Given the description of an element on the screen output the (x, y) to click on. 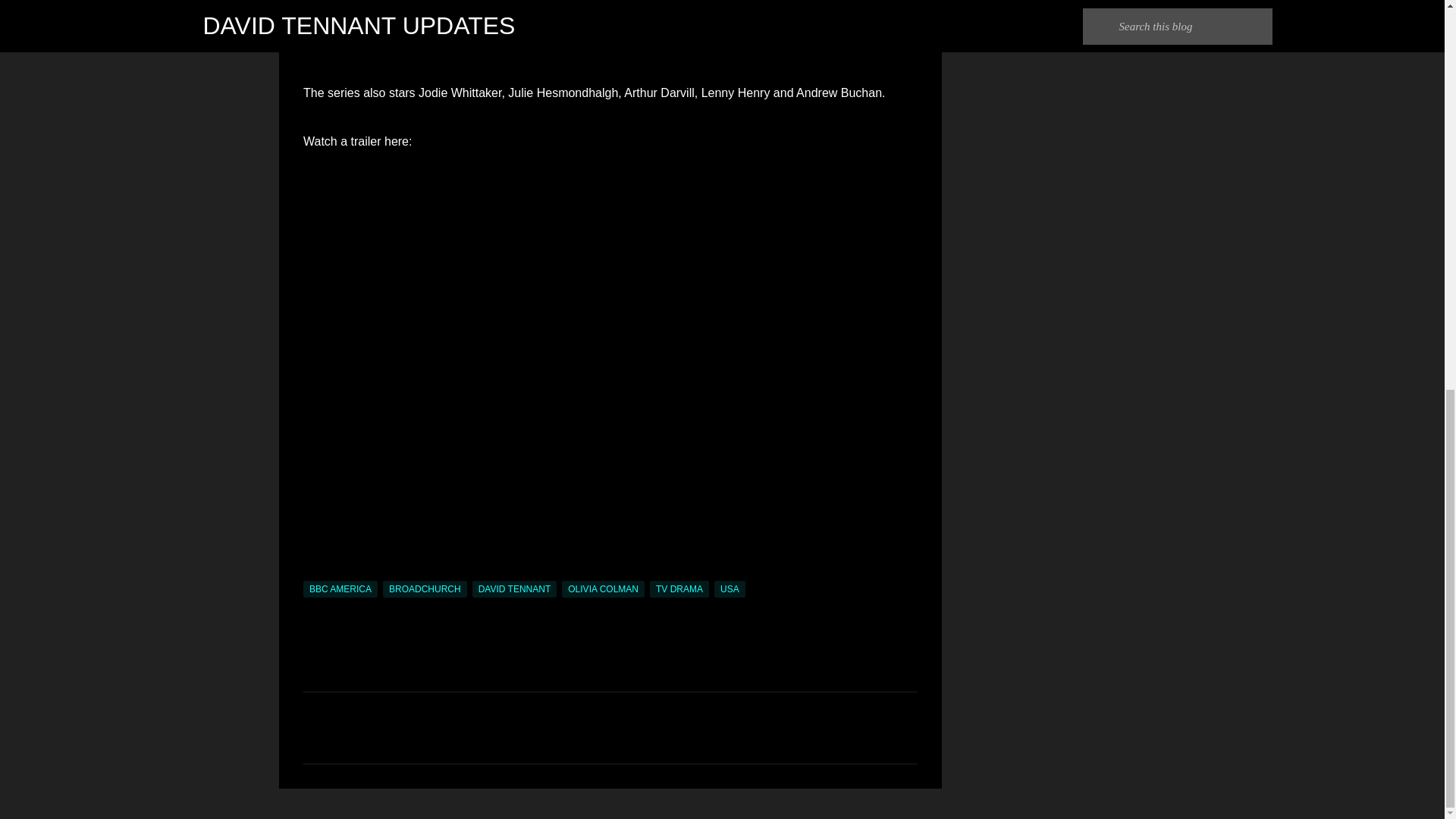
Email Post (311, 571)
DAVID TENNANT (514, 588)
BBC AMERICA (339, 588)
TV DRAMA (679, 588)
OLIVIA COLMAN (603, 588)
USA (729, 588)
BROADCHURCH (424, 588)
